Given the description of an element on the screen output the (x, y) to click on. 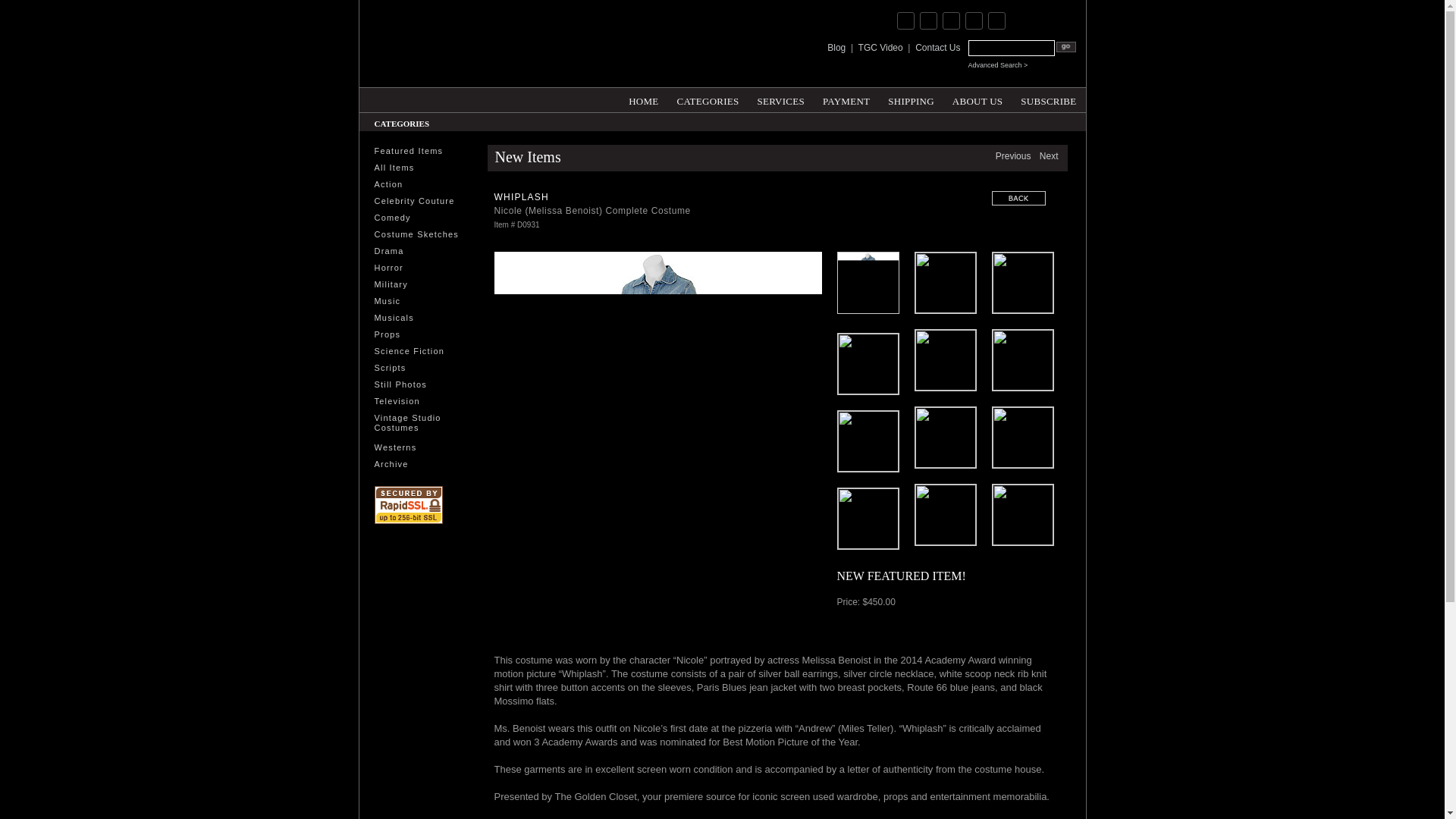
ABOUT US (977, 99)
SHIPPING (911, 99)
PAYMENT (846, 99)
SERVICES (780, 99)
All Items (416, 168)
CATEGORIES (707, 99)
TGC Video (880, 47)
HOME (643, 99)
The Golden Closet - Iconic Entertainment Memorabillia (531, 42)
SUBSCRIBE (1047, 99)
Featured Items (416, 151)
Blog (836, 47)
Contact Us (937, 47)
